Given the description of an element on the screen output the (x, y) to click on. 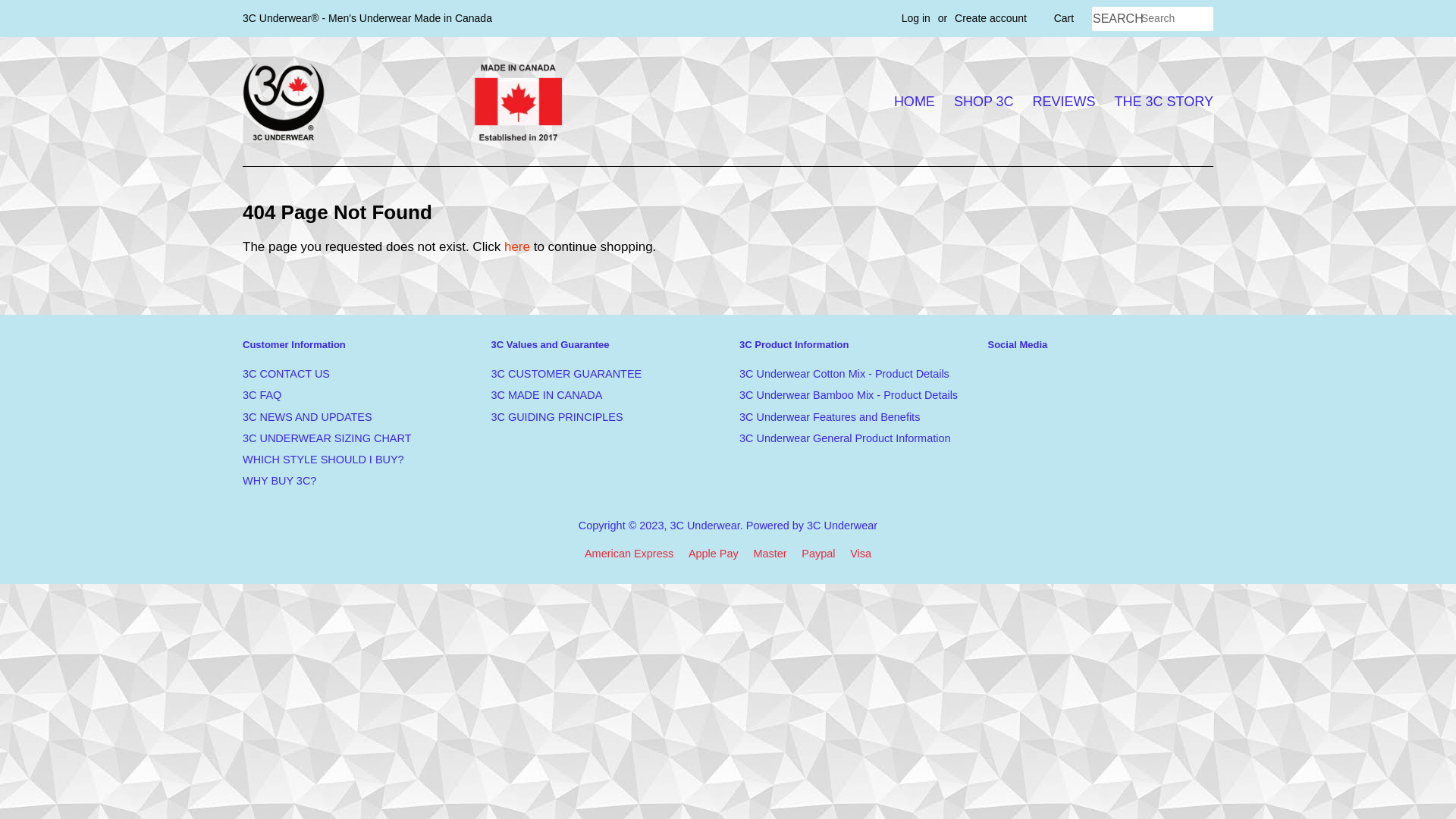
REVIEWS Element type: text (1064, 101)
3C MADE IN CANADA Element type: text (546, 395)
3C UNDERWEAR SIZING CHART Element type: text (326, 438)
WHICH STYLE SHOULD I BUY? Element type: text (323, 459)
3C Underwear Cotton Mix - Product Details Element type: text (844, 373)
WHY BUY 3C? Element type: text (279, 480)
THE 3C STORY Element type: text (1160, 101)
3C GUIDING PRINCIPLES Element type: text (557, 417)
HOME Element type: text (918, 101)
Log in Element type: text (915, 18)
SHOP 3C Element type: text (983, 101)
3C Underwear General Product Information Element type: text (844, 438)
Cart Element type: text (1063, 18)
3C Underwear Bamboo Mix - Product Details Element type: text (848, 395)
Create account Element type: text (990, 18)
3C NEWS AND UPDATES Element type: text (307, 417)
3C Underwear Element type: text (704, 525)
3C FAQ Element type: text (261, 395)
3C Underwear Features and Benefits Element type: text (829, 417)
3C CUSTOMER GUARANTEE Element type: text (566, 373)
SEARCH Element type: text (1116, 18)
Powered by 3C Underwear Element type: text (811, 525)
here Element type: text (517, 246)
3C CONTACT US Element type: text (285, 373)
